Given the description of an element on the screen output the (x, y) to click on. 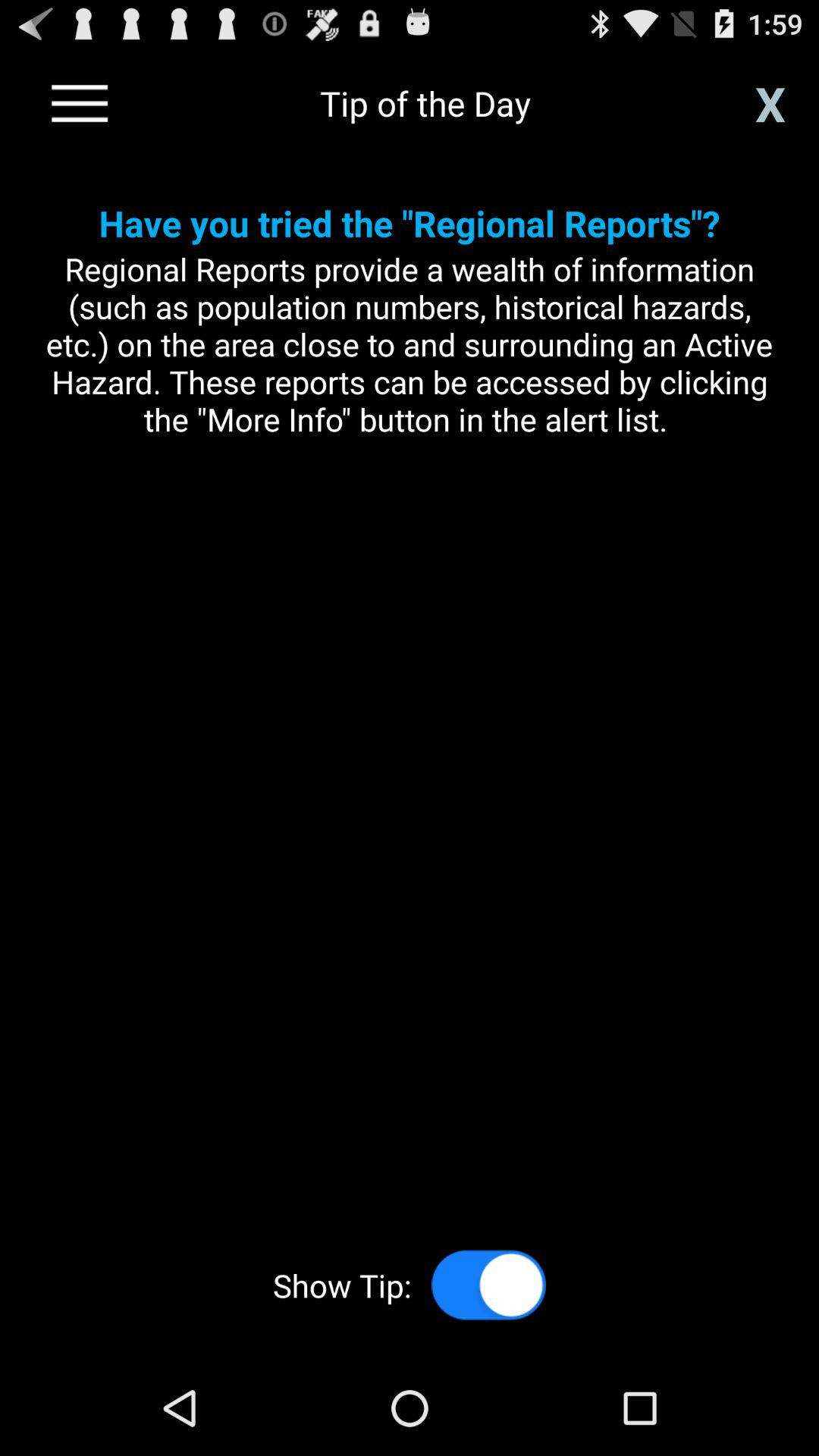
toggle on (488, 1285)
